Given the description of an element on the screen output the (x, y) to click on. 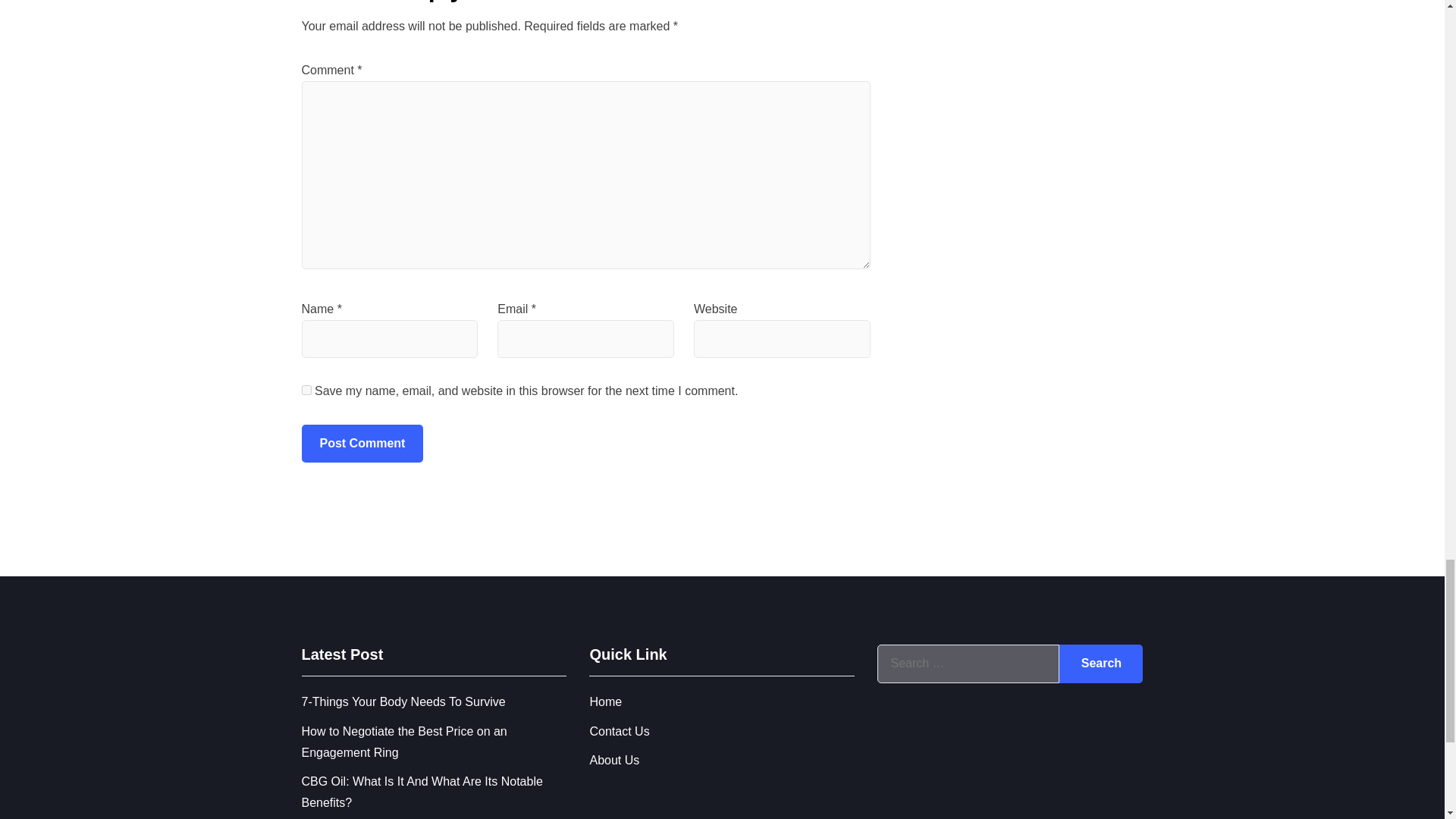
Post Comment (362, 443)
yes (306, 389)
Search (1100, 663)
Search (1100, 663)
